Given the description of an element on the screen output the (x, y) to click on. 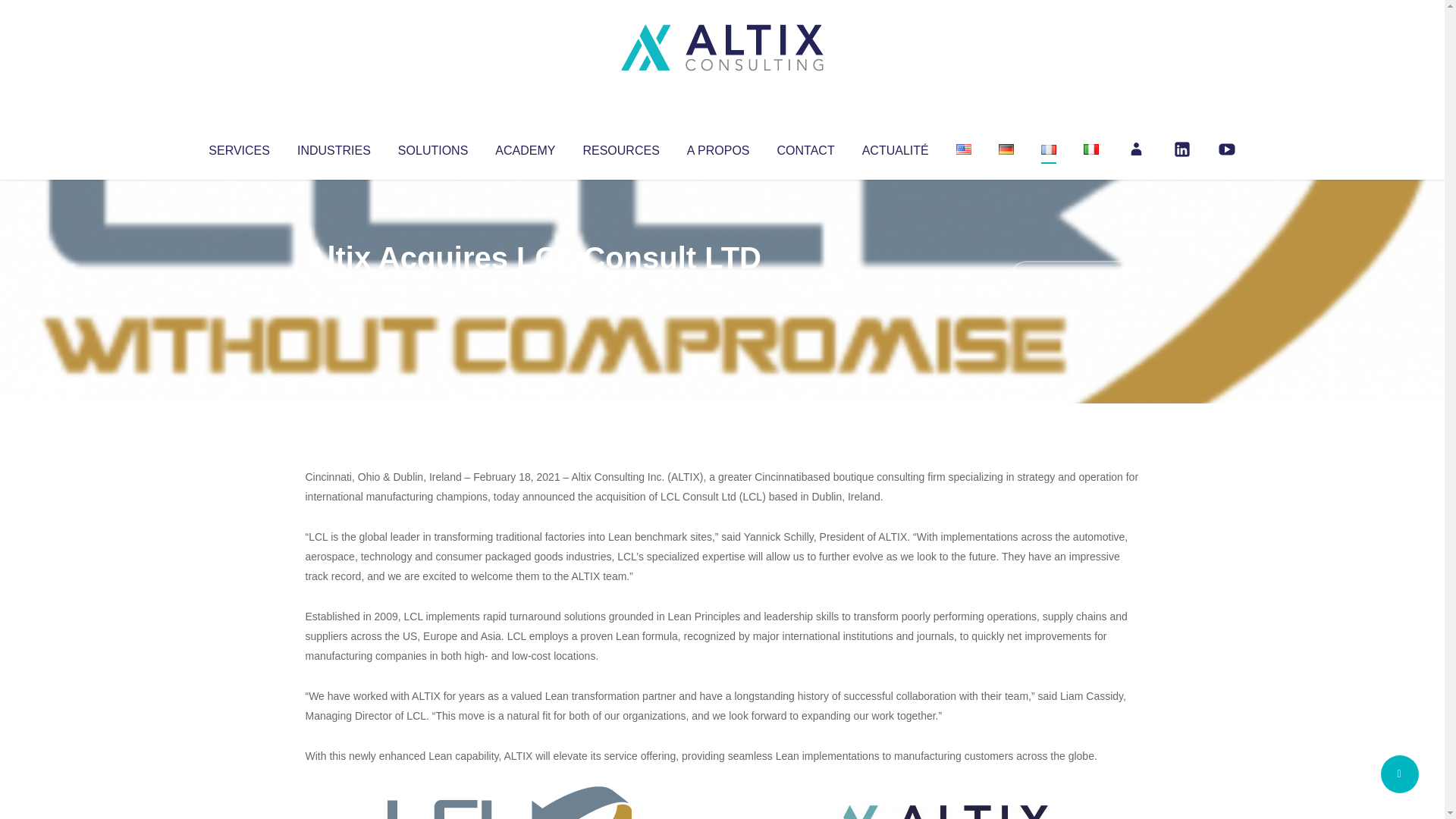
SOLUTIONS (432, 146)
Articles par Altix (333, 287)
SERVICES (238, 146)
INDUSTRIES (334, 146)
Altix (333, 287)
No Comments (1073, 278)
A PROPOS (718, 146)
ACADEMY (524, 146)
Uncategorized (530, 287)
RESOURCES (620, 146)
